Given the description of an element on the screen output the (x, y) to click on. 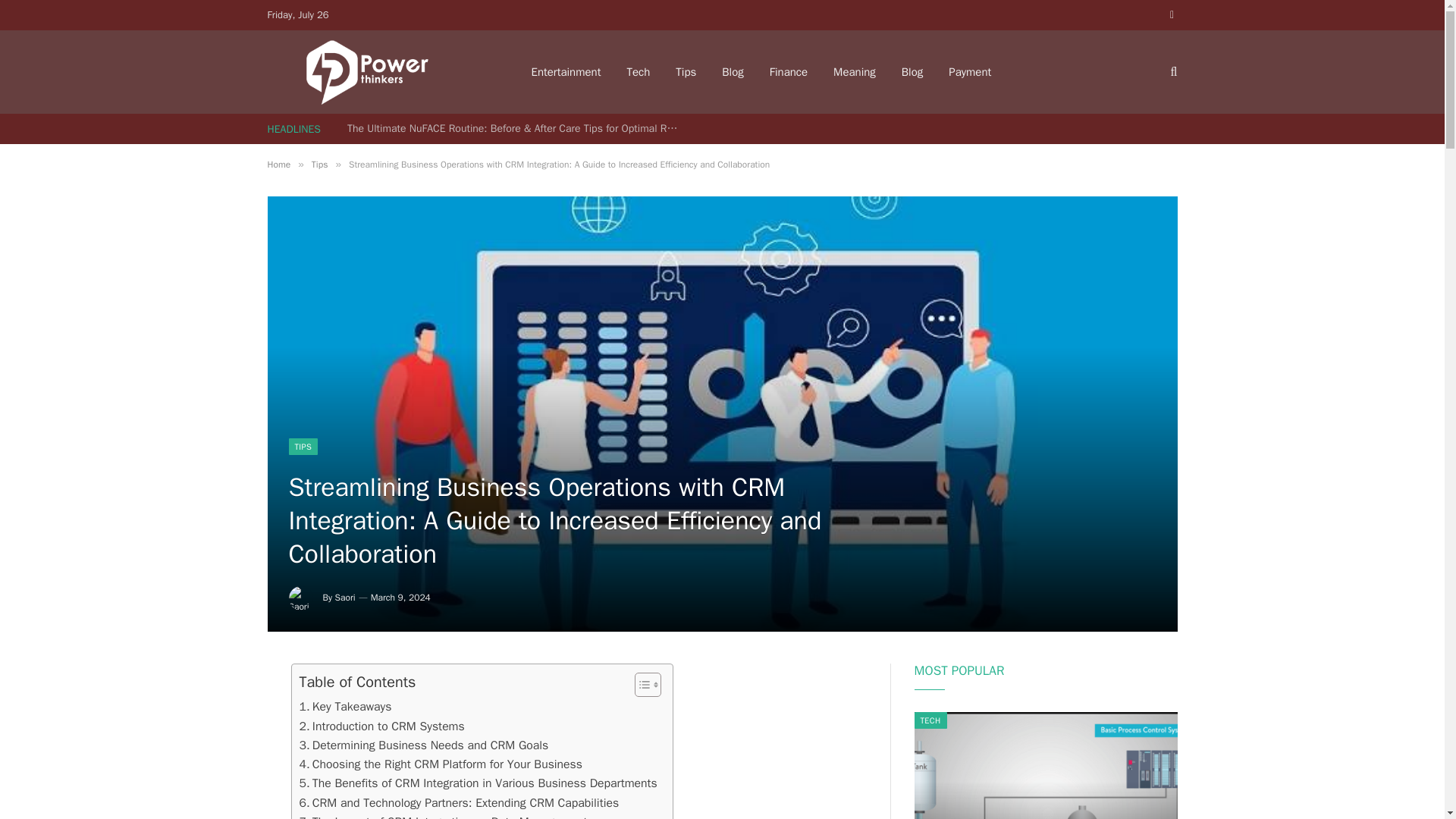
Entertainment (566, 71)
Powerthinkers.net (379, 71)
Tips (320, 164)
TIPS (302, 446)
Home (277, 164)
Saori (344, 597)
Switch to Dark Design - easier on eyes. (1169, 14)
Posts by Saori (344, 597)
